Given the description of an element on the screen output the (x, y) to click on. 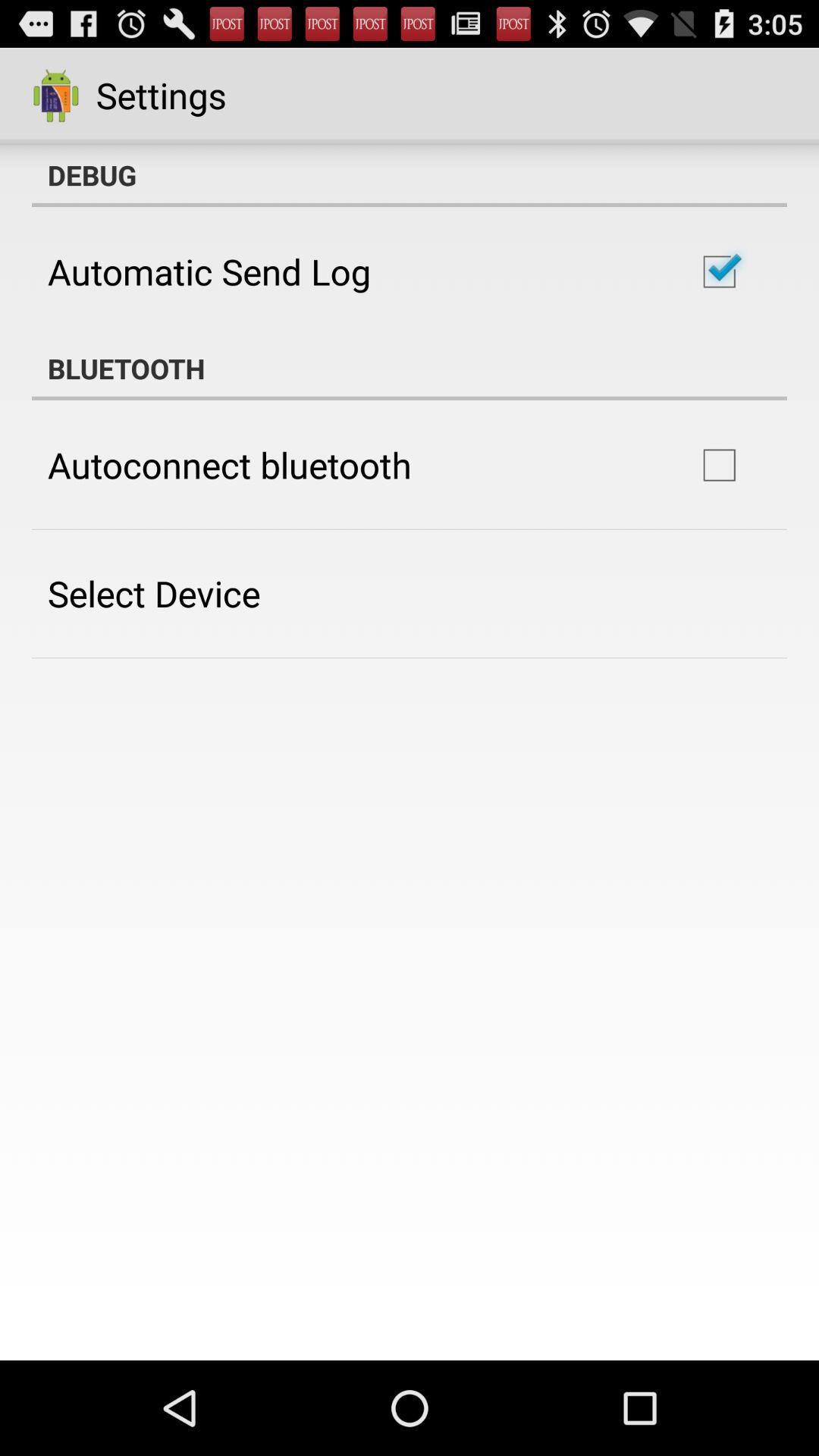
swipe until select device app (153, 593)
